Given the description of an element on the screen output the (x, y) to click on. 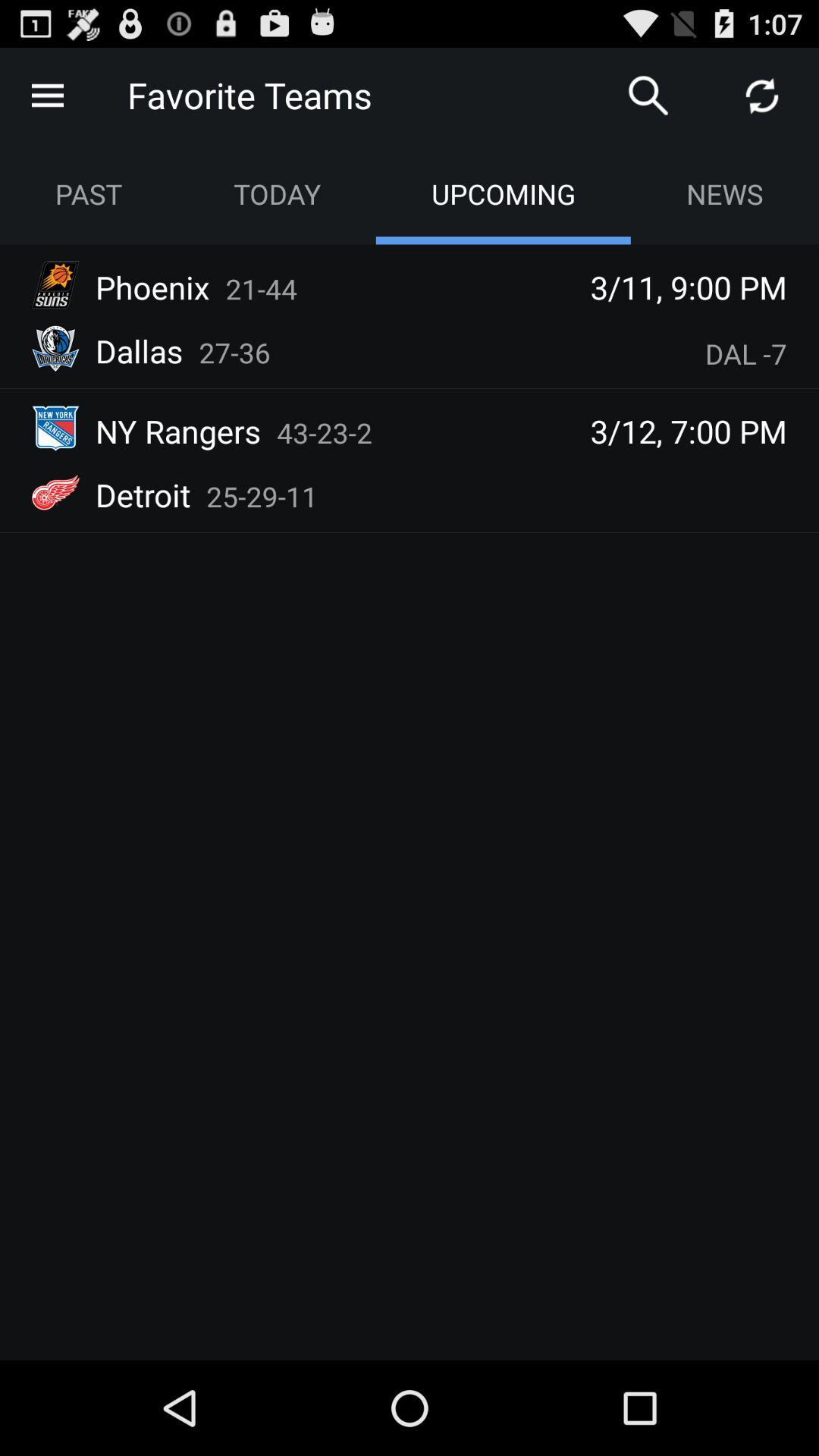
press the app next to the today app (89, 193)
